Given the description of an element on the screen output the (x, y) to click on. 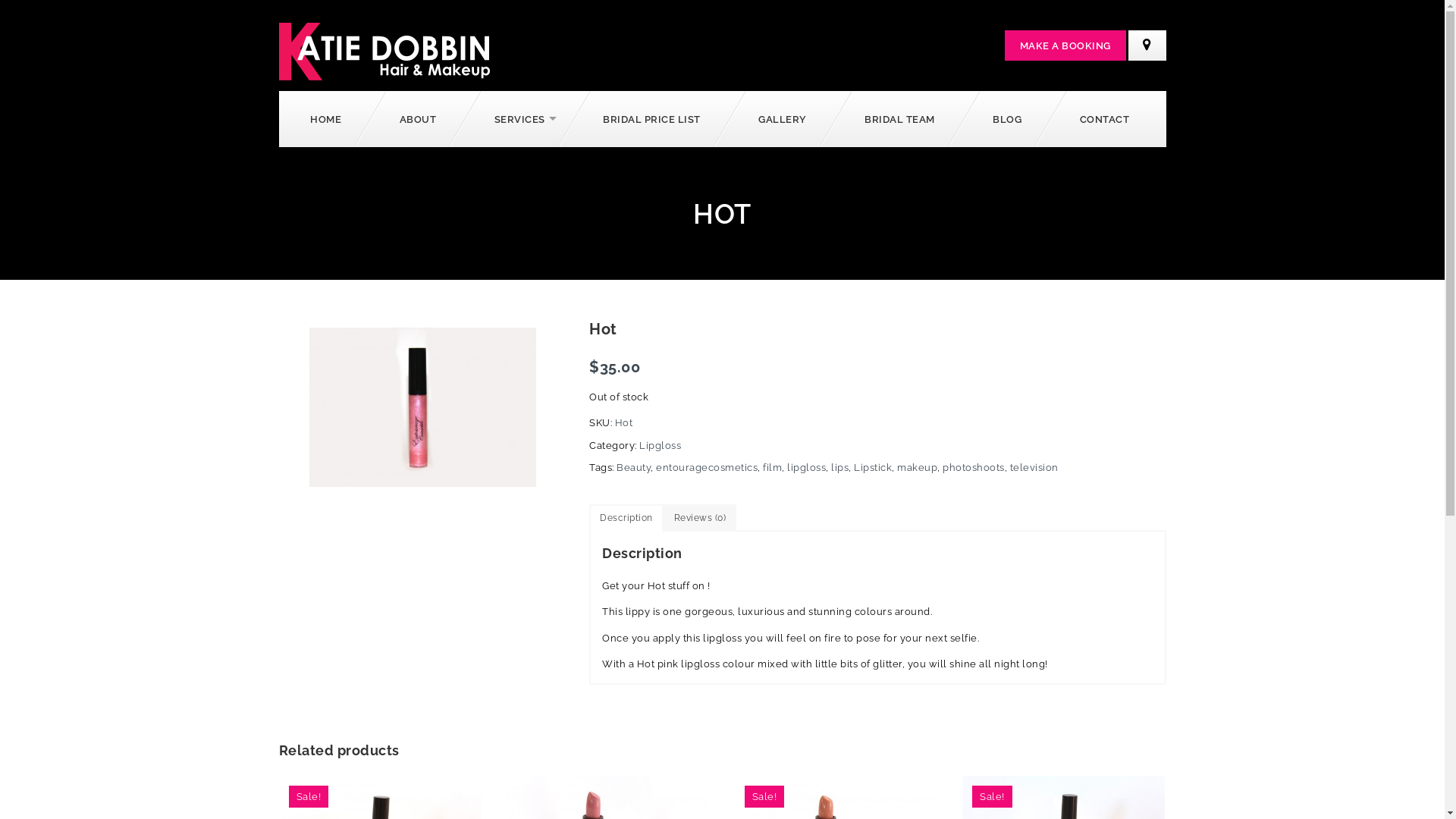
Description Element type: text (626, 516)
ABOUT Element type: text (420, 118)
BLOG Element type: text (1009, 118)
BRIDAL PRICE LIST Element type: text (654, 118)
Reviews (0) Element type: text (699, 517)
entouragecosmetics Element type: text (706, 467)
film Element type: text (771, 467)
lipgloss Element type: text (806, 467)
makeup Element type: text (917, 467)
Lipstick Element type: text (872, 467)
television Element type: text (1034, 467)
IMG_1189 Element type: hover (422, 406)
BRIDAL TEAM Element type: text (902, 118)
HOME Element type: text (328, 118)
SERVICES Element type: text (521, 118)
Beauty Element type: text (633, 467)
GALLERY Element type: text (785, 118)
photoshoots Element type: text (973, 467)
MAKE A BOOKING Element type: text (1064, 45)
CONTACT Element type: text (1106, 118)
Lipgloss Element type: text (659, 445)
lips Element type: text (839, 467)
